Given the description of an element on the screen output the (x, y) to click on. 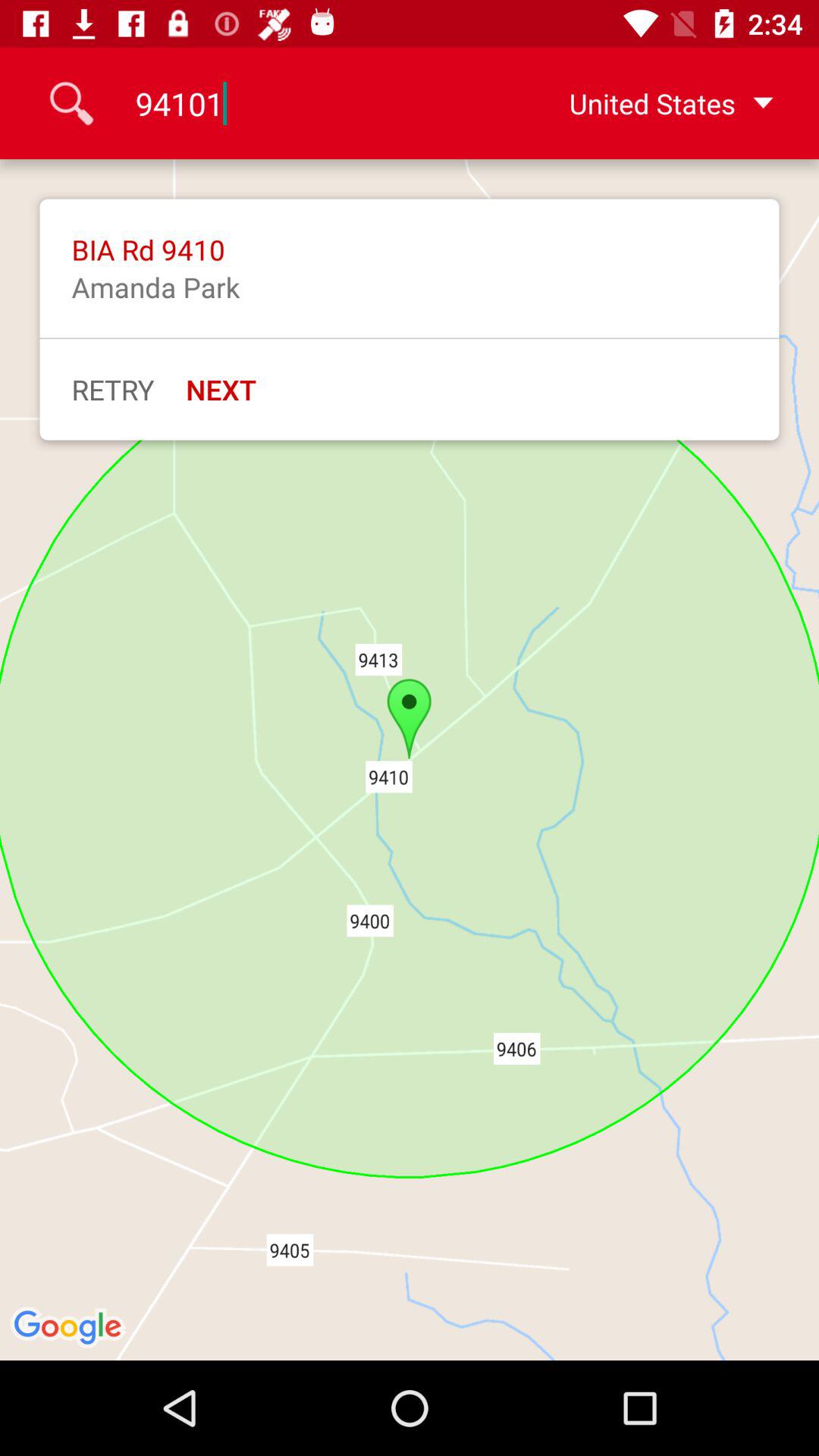
turn off item to the left of united states icon (309, 103)
